Given the description of an element on the screen output the (x, y) to click on. 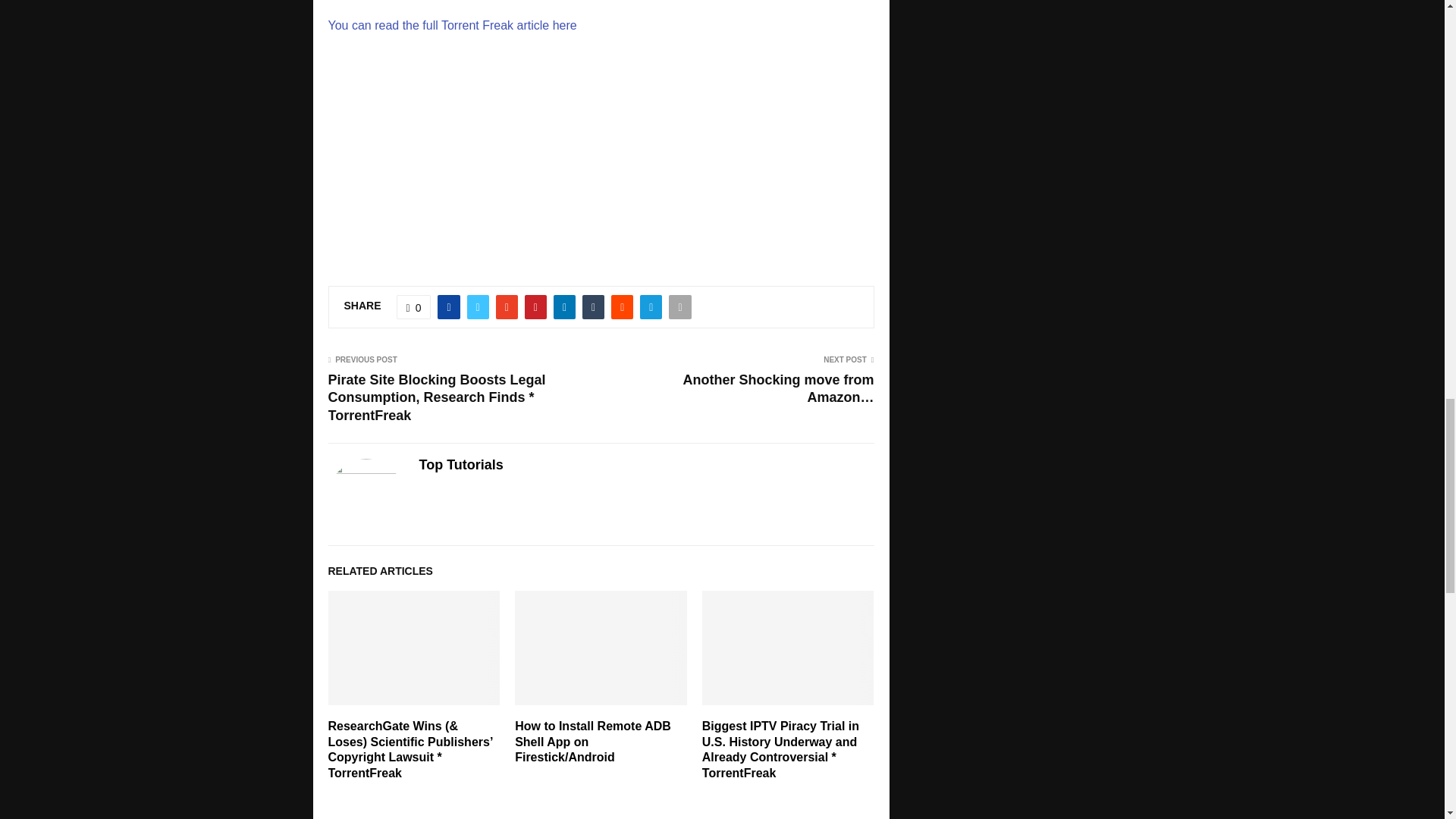
Like (413, 306)
You can read the full Torrent Freak article here (451, 24)
0 (413, 306)
